Given the description of an element on the screen output the (x, y) to click on. 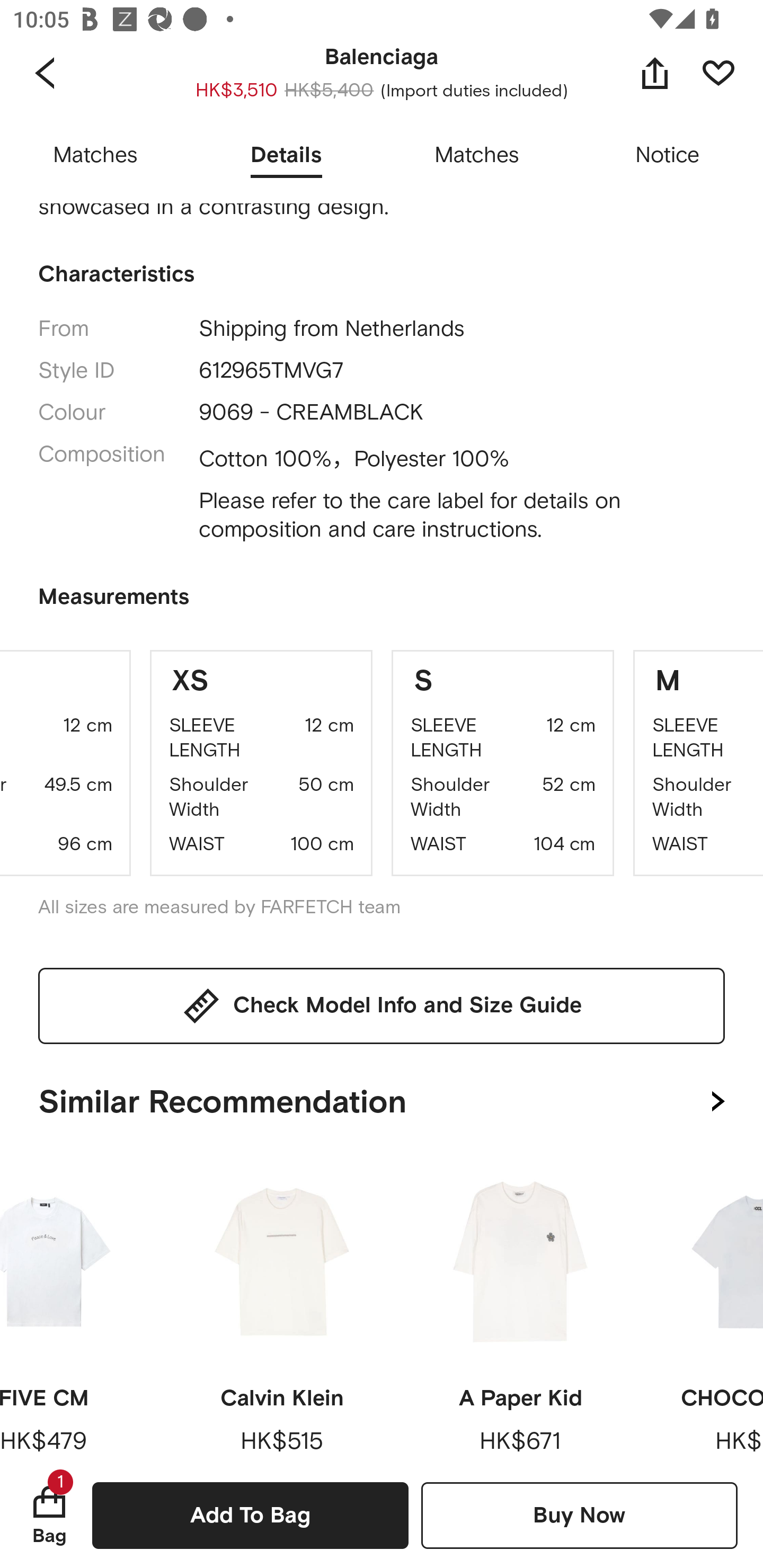
Matches (95, 155)
Matches (476, 155)
Notice (667, 155)
 Check Model Info and Size Guide (381, 1005)
Similar Recommendation (381, 1098)
FIVE CM HK$479 (76, 1307)
Calvin Klein HK$515 (281, 1307)
A Paper Kid HK$671 (520, 1307)
Bag 1 (49, 1515)
Add To Bag (250, 1515)
Buy Now (579, 1515)
